Given the description of an element on the screen output the (x, y) to click on. 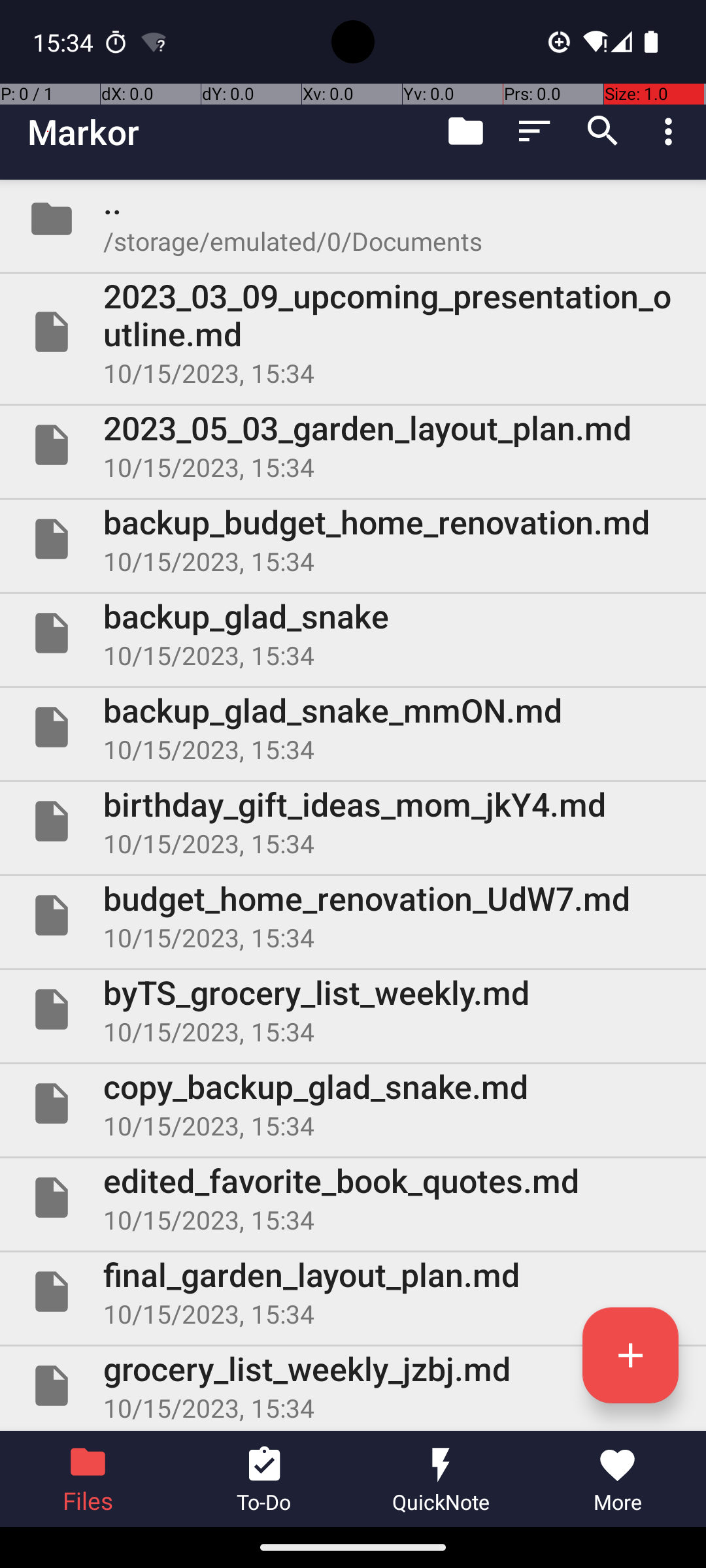
File 2023_03_09_upcoming_presentation_outline.md  Element type: android.widget.LinearLayout (353, 331)
File 2023_05_03_garden_layout_plan.md  Element type: android.widget.LinearLayout (353, 444)
File backup_budget_home_renovation.md  Element type: android.widget.LinearLayout (353, 538)
File backup_glad_snake  Element type: android.widget.LinearLayout (353, 632)
File backup_glad_snake_mmON.md  Element type: android.widget.LinearLayout (353, 726)
File birthday_gift_ideas_mom_jkY4.md  Element type: android.widget.LinearLayout (353, 821)
File budget_home_renovation_UdW7.md  Element type: android.widget.LinearLayout (353, 915)
File byTS_grocery_list_weekly.md  Element type: android.widget.LinearLayout (353, 1009)
File copy_backup_glad_snake.md  Element type: android.widget.LinearLayout (353, 1103)
File edited_favorite_book_quotes.md  Element type: android.widget.LinearLayout (353, 1197)
File final_garden_layout_plan.md  Element type: android.widget.LinearLayout (353, 1291)
File grocery_list_weekly_jzbj.md  Element type: android.widget.LinearLayout (353, 1385)
